Given the description of an element on the screen output the (x, y) to click on. 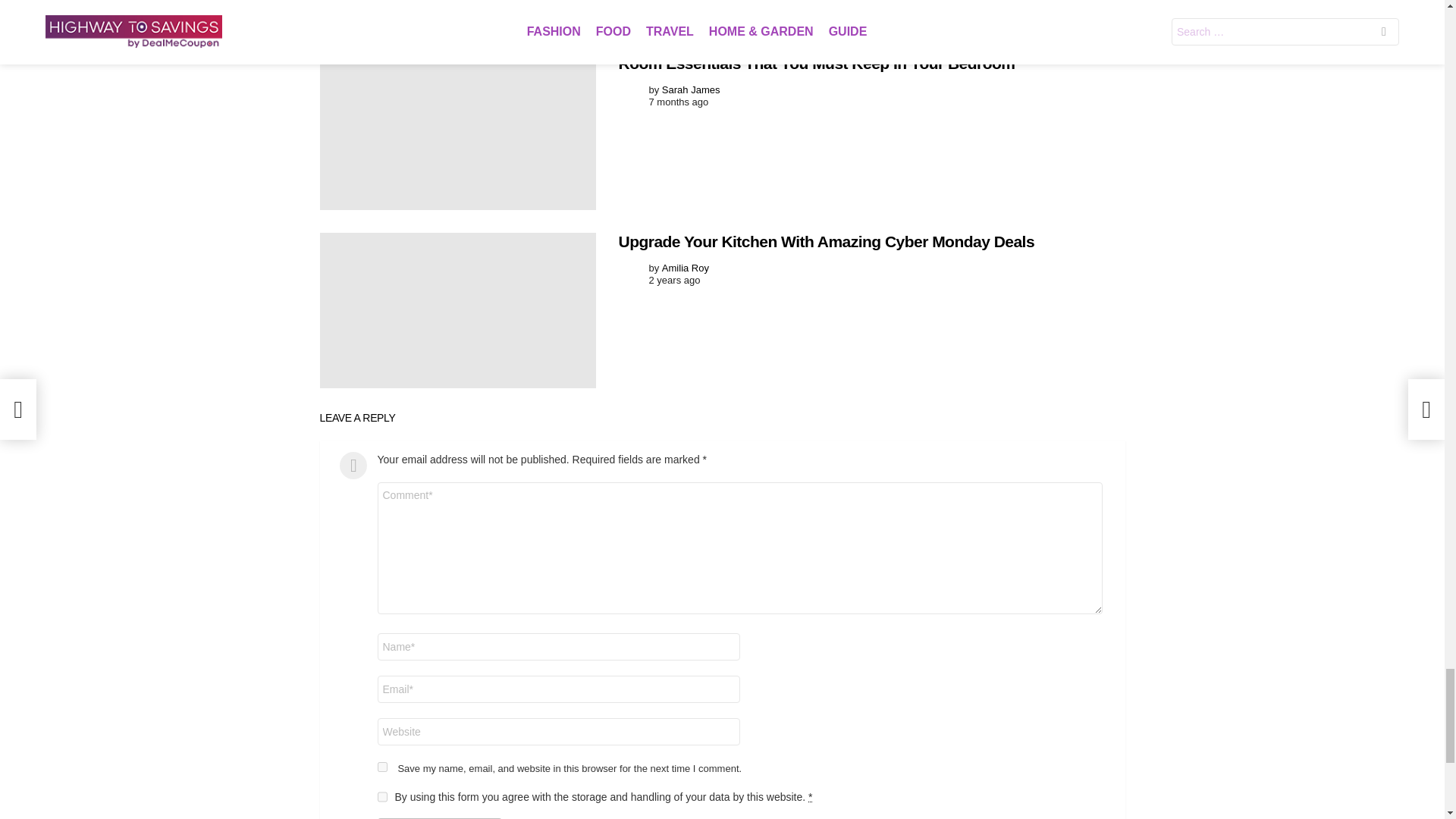
The Best Offers on Ashley Furniture Products Across The USA (457, 15)
Upgrade Your Kitchen With Amazing Cyber Monday Deals (826, 241)
yes (382, 767)
Upgrade Your Kitchen With Amazing Cyber Monday Deals (457, 310)
December 21, 2023, 12:12 pm (679, 102)
You need to accept this checkbox (810, 797)
Room Essentials That You Must Keep In Your Bedroom (816, 63)
November 17, 2022, 11:53 am (674, 280)
Room Essentials That You Must Keep In Your Bedroom (457, 131)
Posts by Sarah James (691, 89)
Amilia Roy (685, 267)
Posts by Amilia Roy (685, 267)
1 (382, 797)
Sarah James (691, 89)
